Given the description of an element on the screen output the (x, y) to click on. 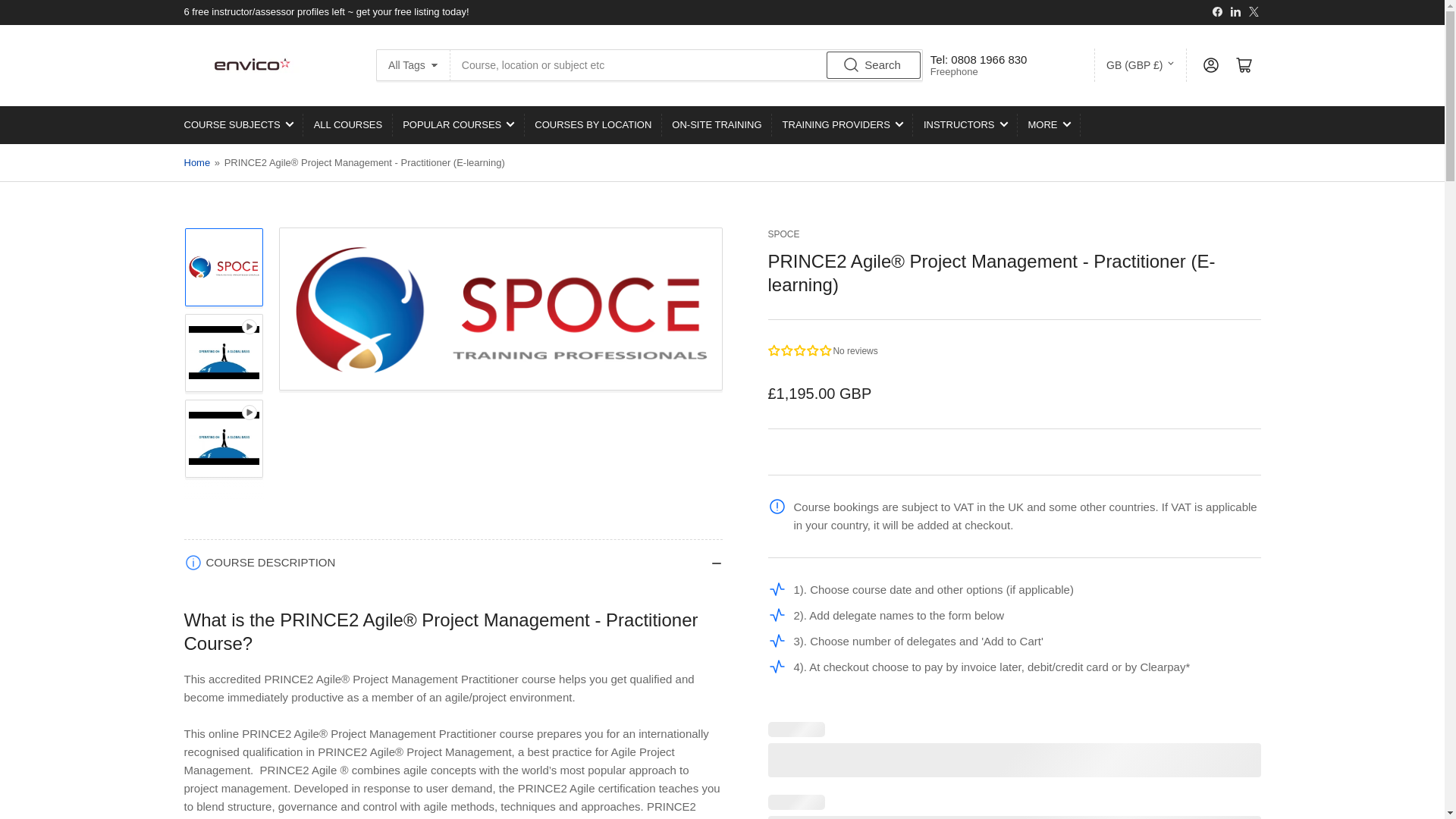
Search (873, 64)
LinkedIn (1235, 11)
Facebook (1216, 11)
X (1253, 11)
